Given the description of an element on the screen output the (x, y) to click on. 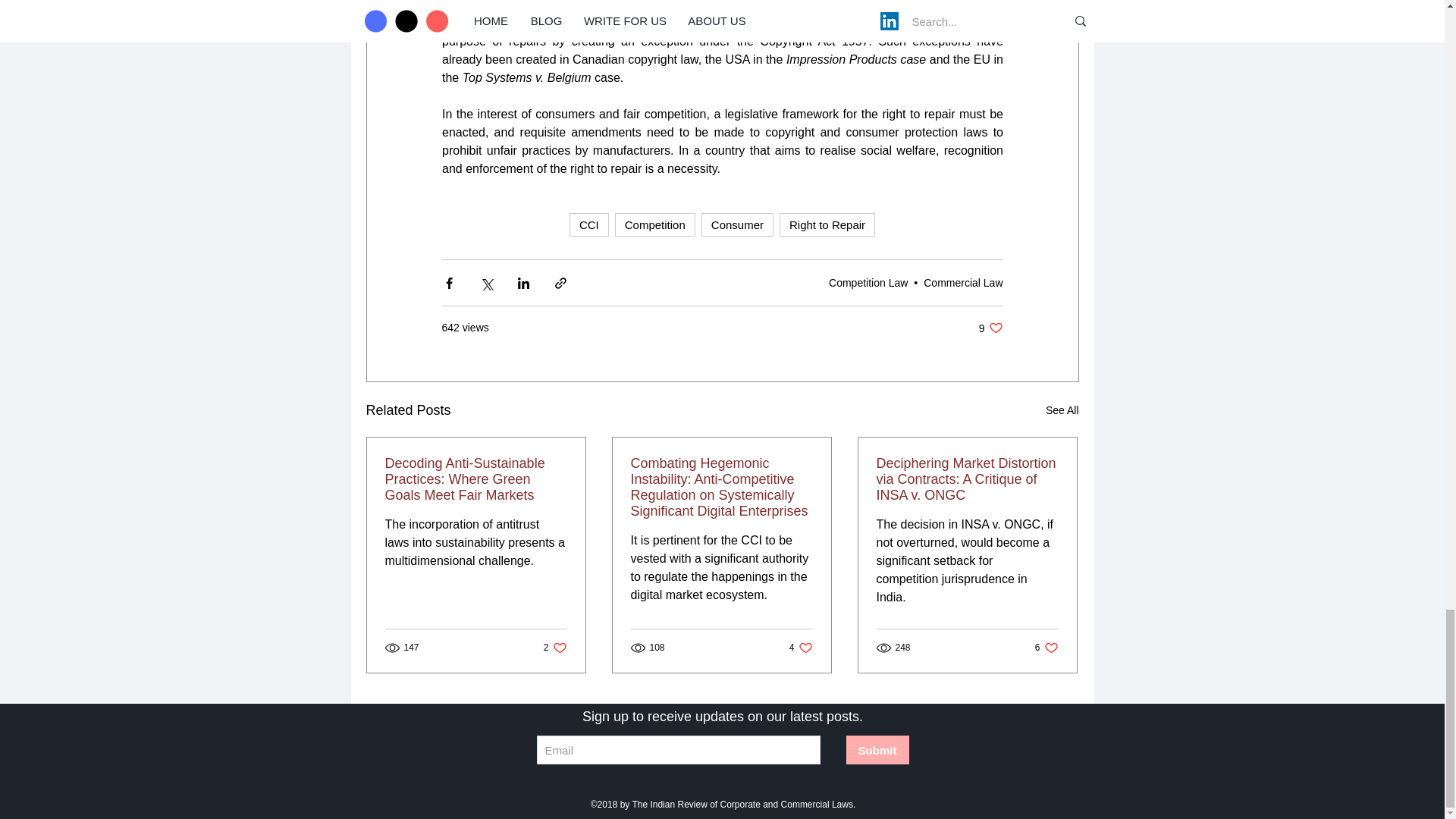
Consumer (737, 224)
Commercial Law (963, 282)
Right to Repair (826, 224)
Competition Law (867, 282)
CCI (588, 224)
Competition (654, 224)
